Given the description of an element on the screen output the (x, y) to click on. 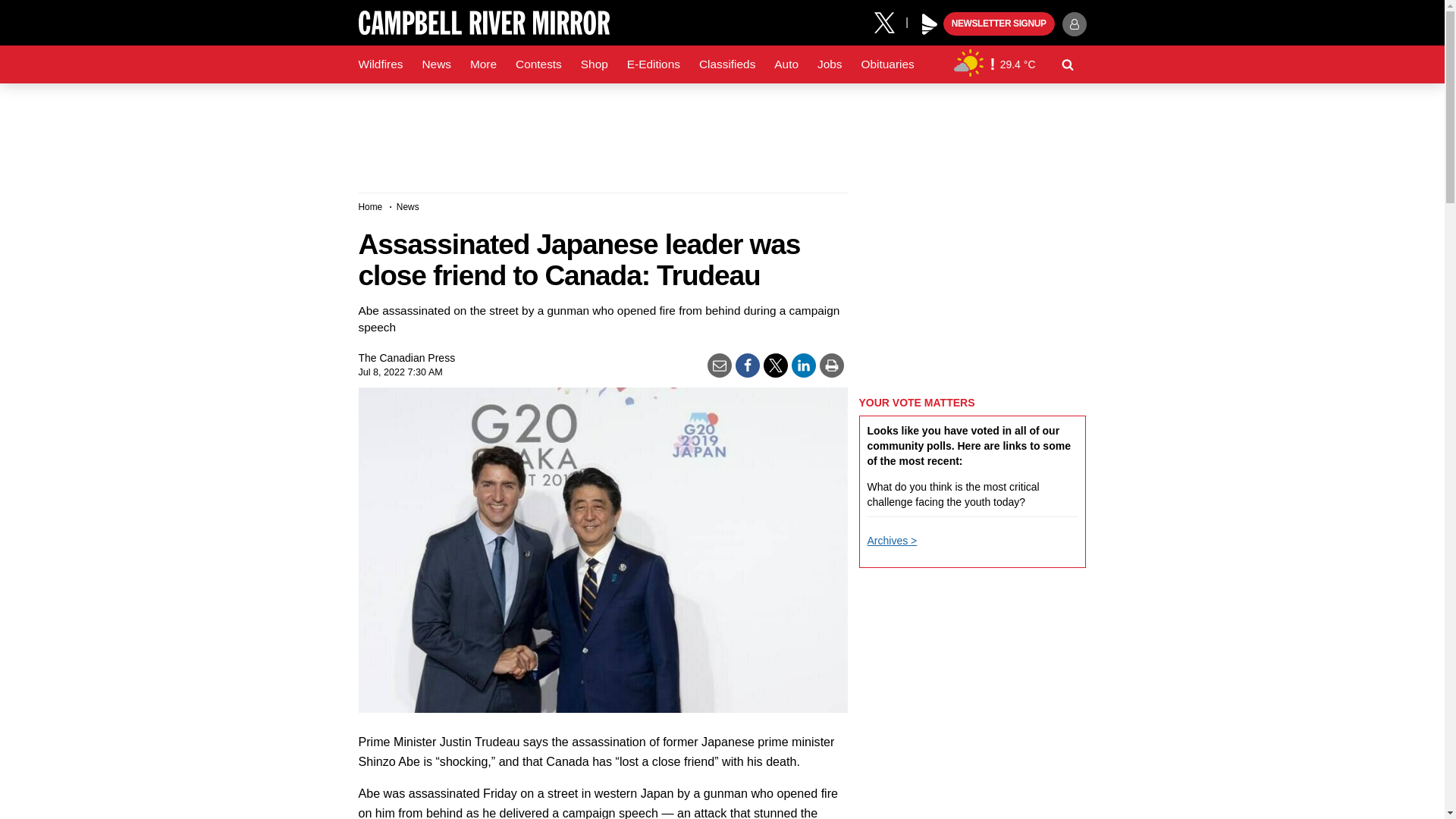
Play (929, 24)
Black Press Media (929, 24)
NEWSLETTER SIGNUP (998, 24)
Wildfires (380, 64)
News (435, 64)
X (889, 21)
